Given the description of an element on the screen output the (x, y) to click on. 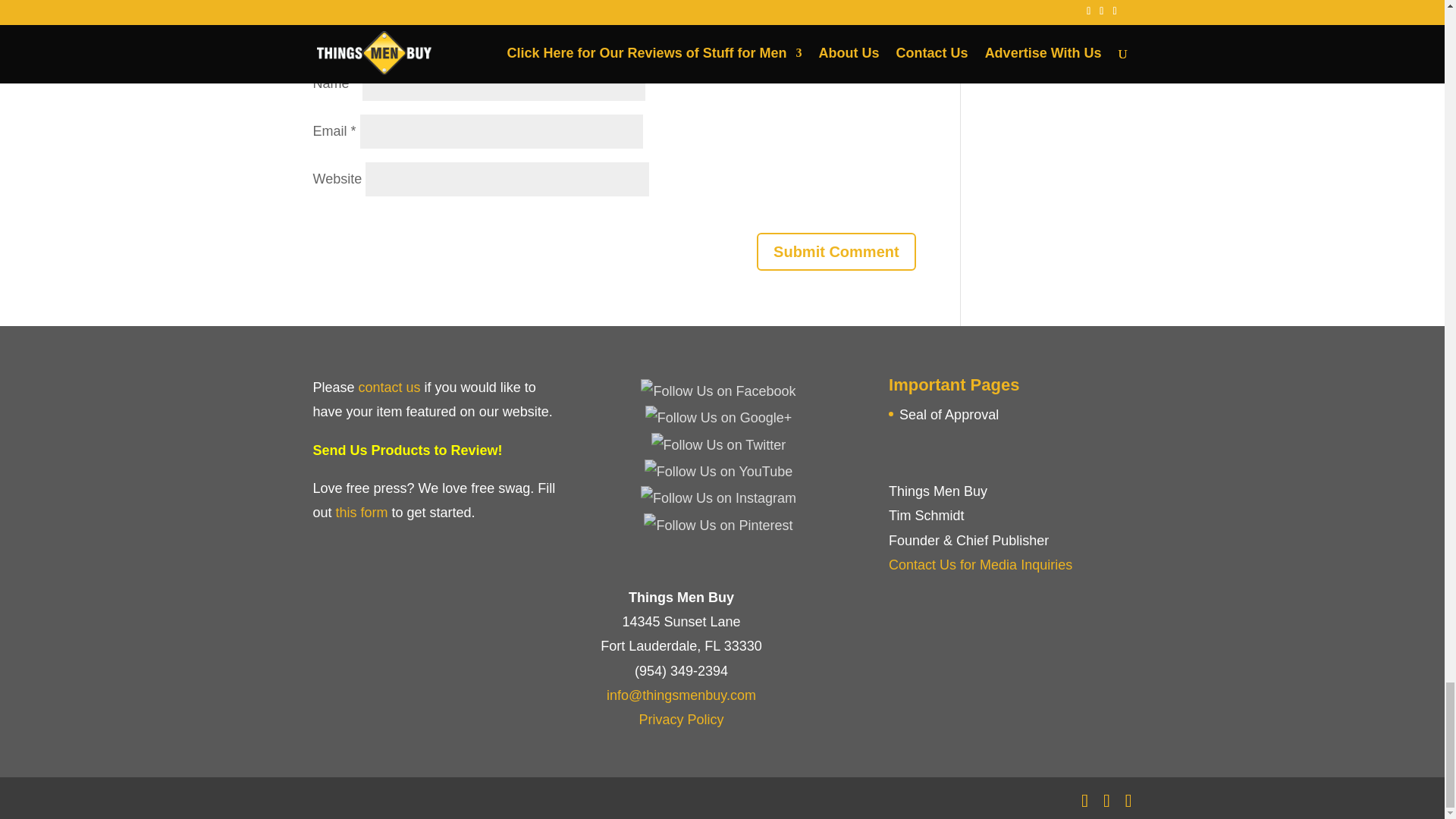
Follow Us on Instagram (718, 498)
Follow Us on Twitter (718, 445)
Follow Us on Pinterest (717, 525)
Submit Comment (836, 251)
Submit Comment (836, 251)
Follow Us on YouTube (718, 471)
Follow Us on Facebook (717, 391)
